Given the description of an element on the screen output the (x, y) to click on. 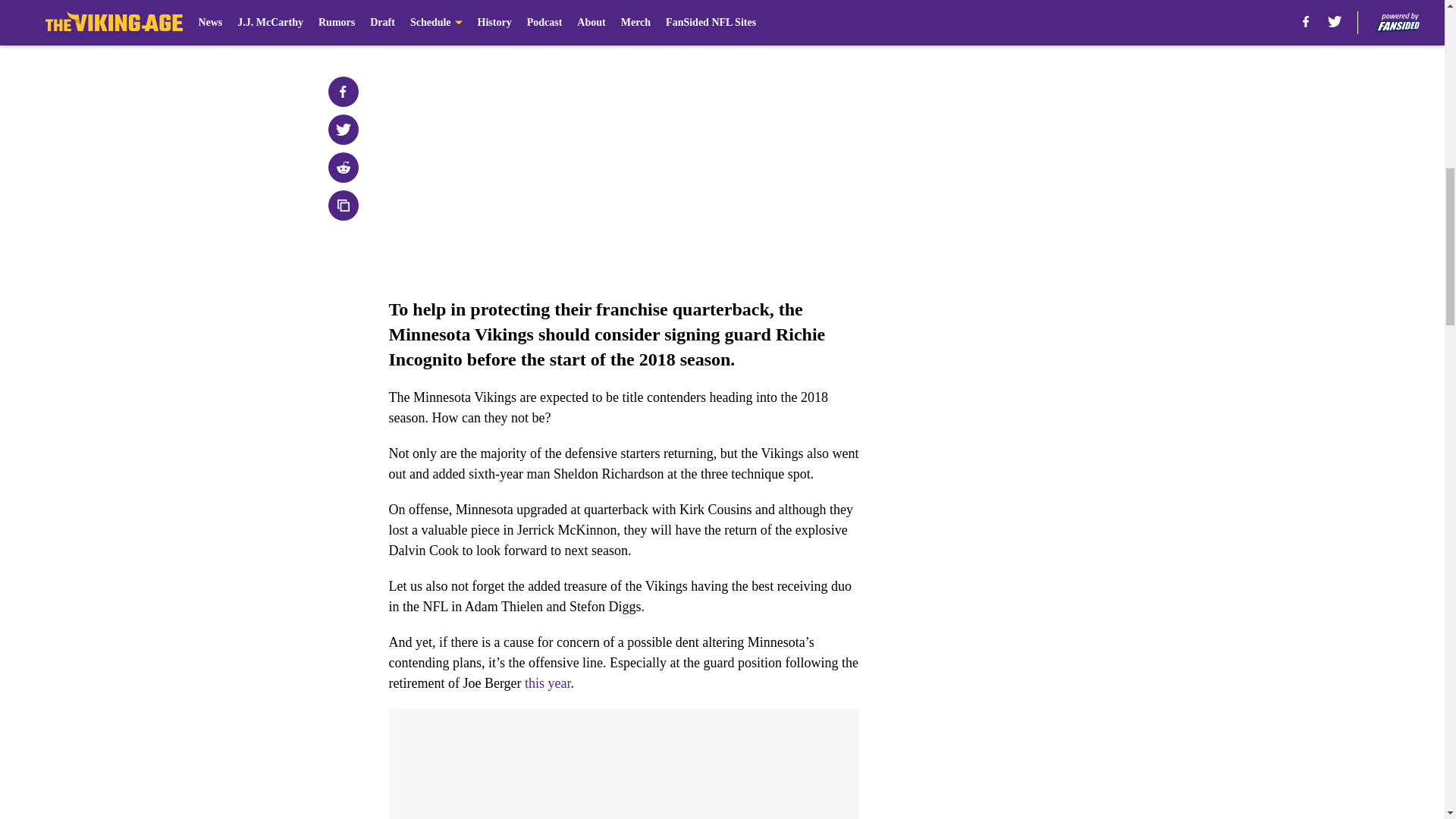
this year (547, 683)
